Given the description of an element on the screen output the (x, y) to click on. 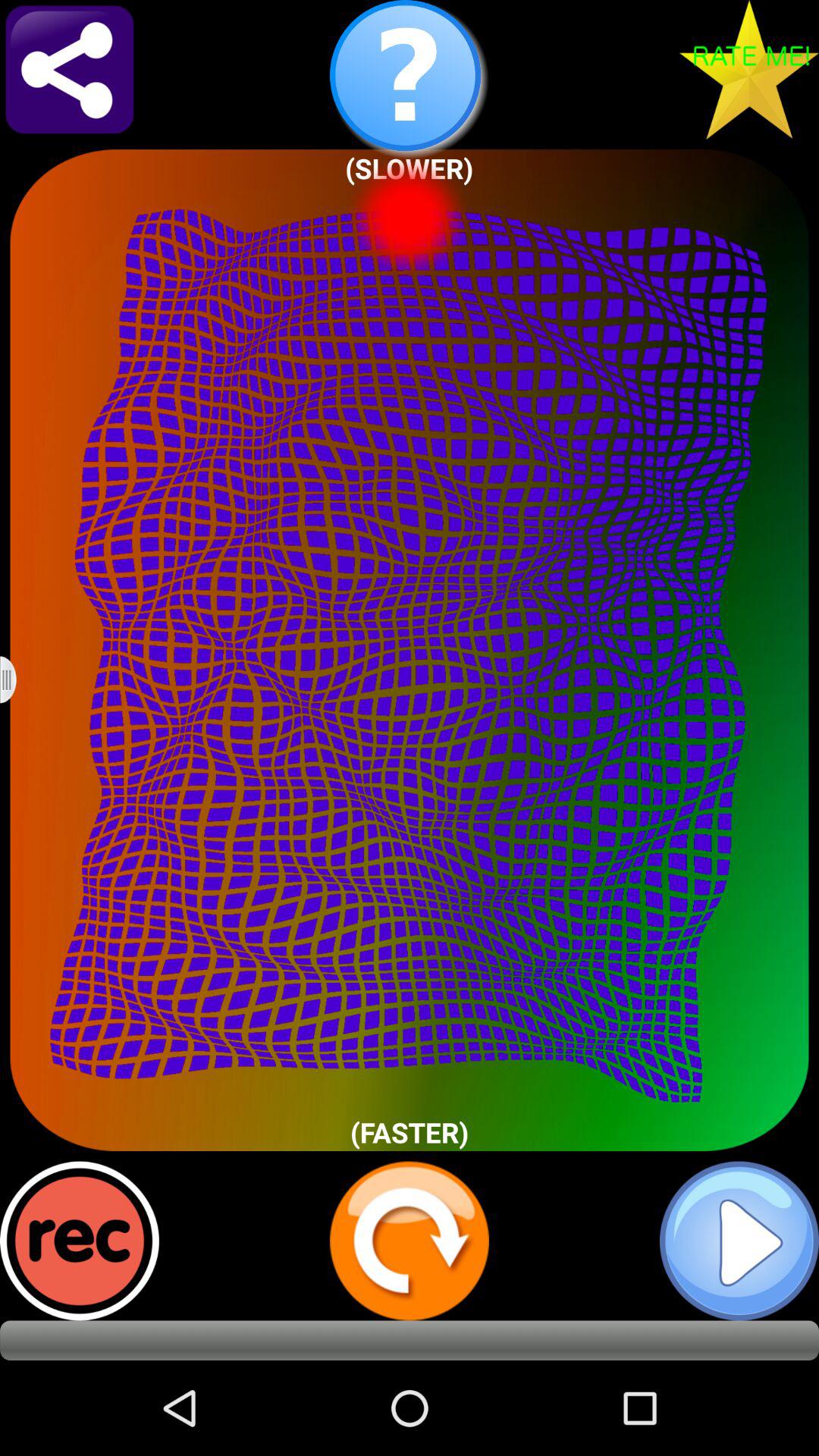
reload (409, 1240)
